Given the description of an element on the screen output the (x, y) to click on. 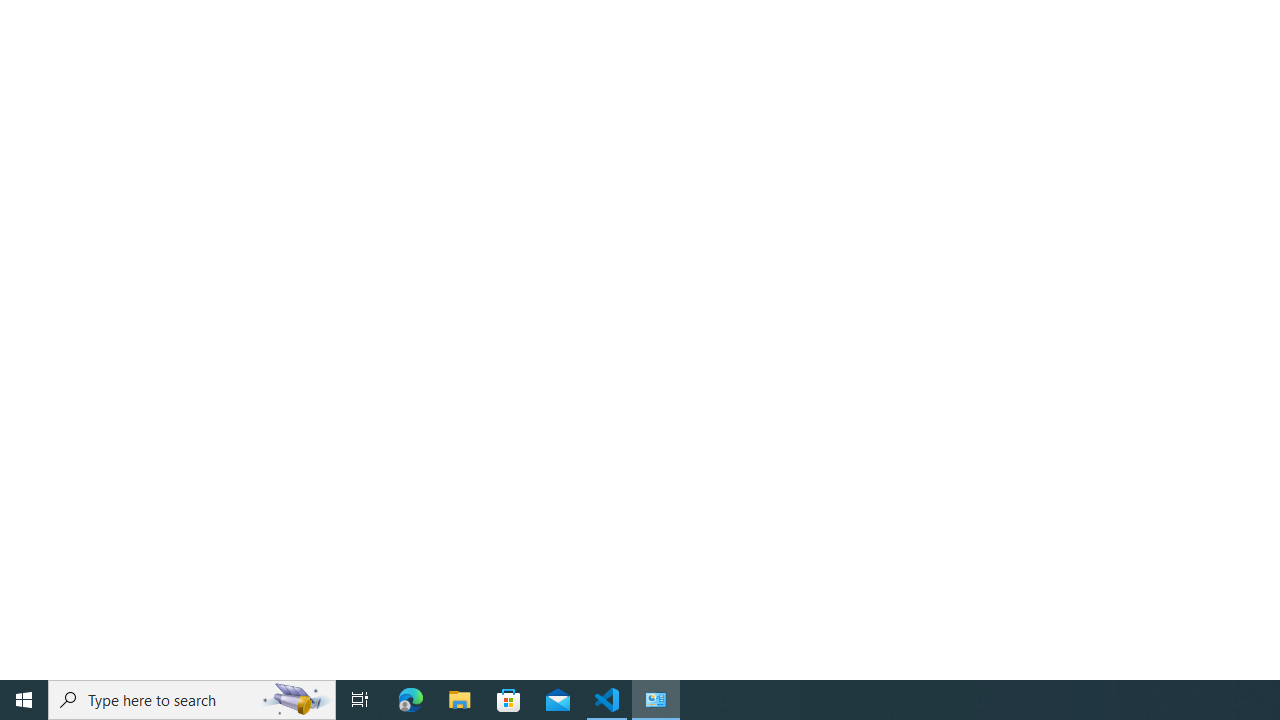
Control Panel - 1 running window (656, 699)
